Given the description of an element on the screen output the (x, y) to click on. 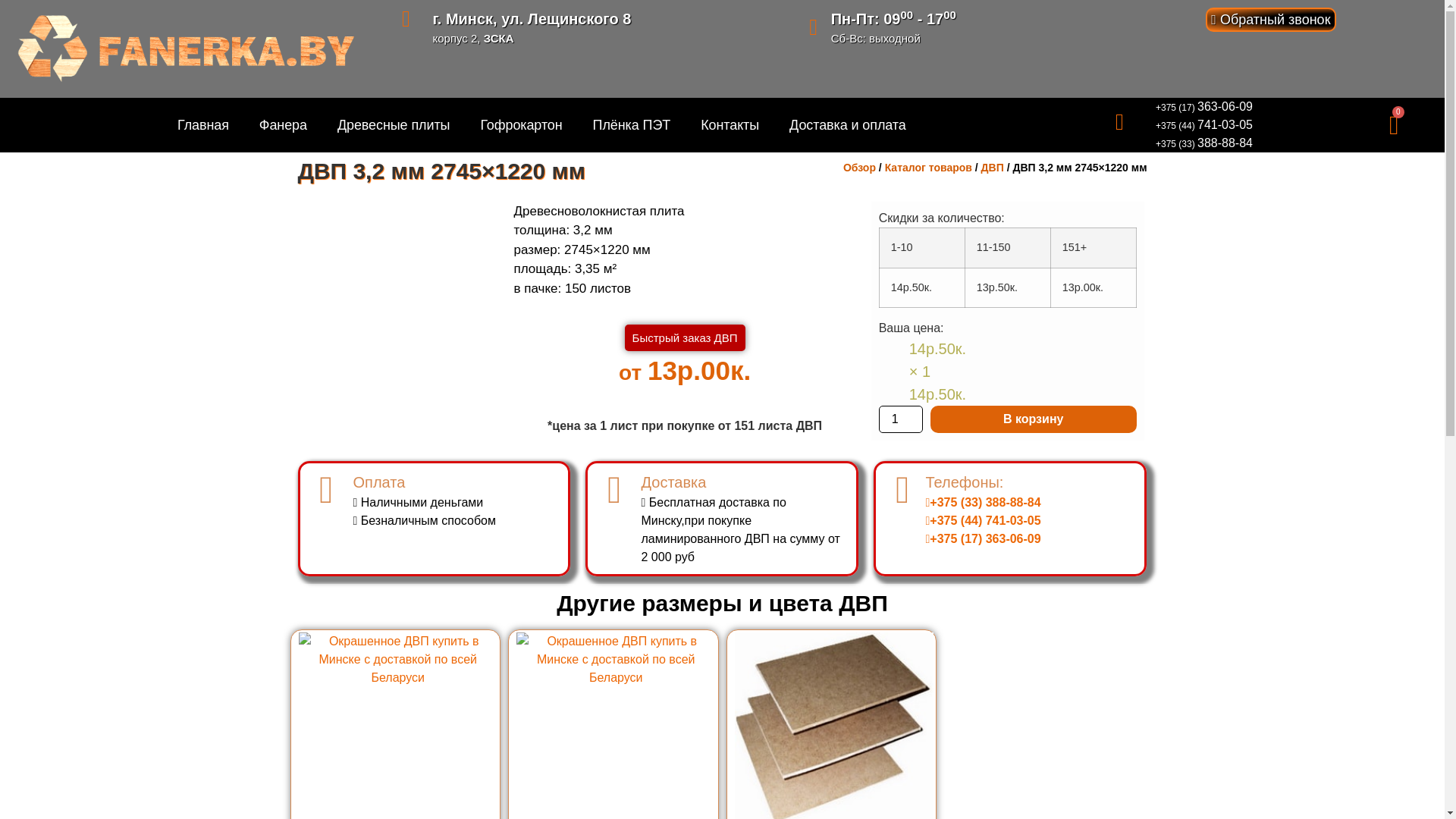
+375 (33) 388-88-84 Element type: text (1203, 143)
0 Element type: text (1394, 124)
+375 (44) 741-03-05 Element type: text (1203, 125)
+375 (17) 363-06-09 Element type: text (1203, 106)
